Given the description of an element on the screen output the (x, y) to click on. 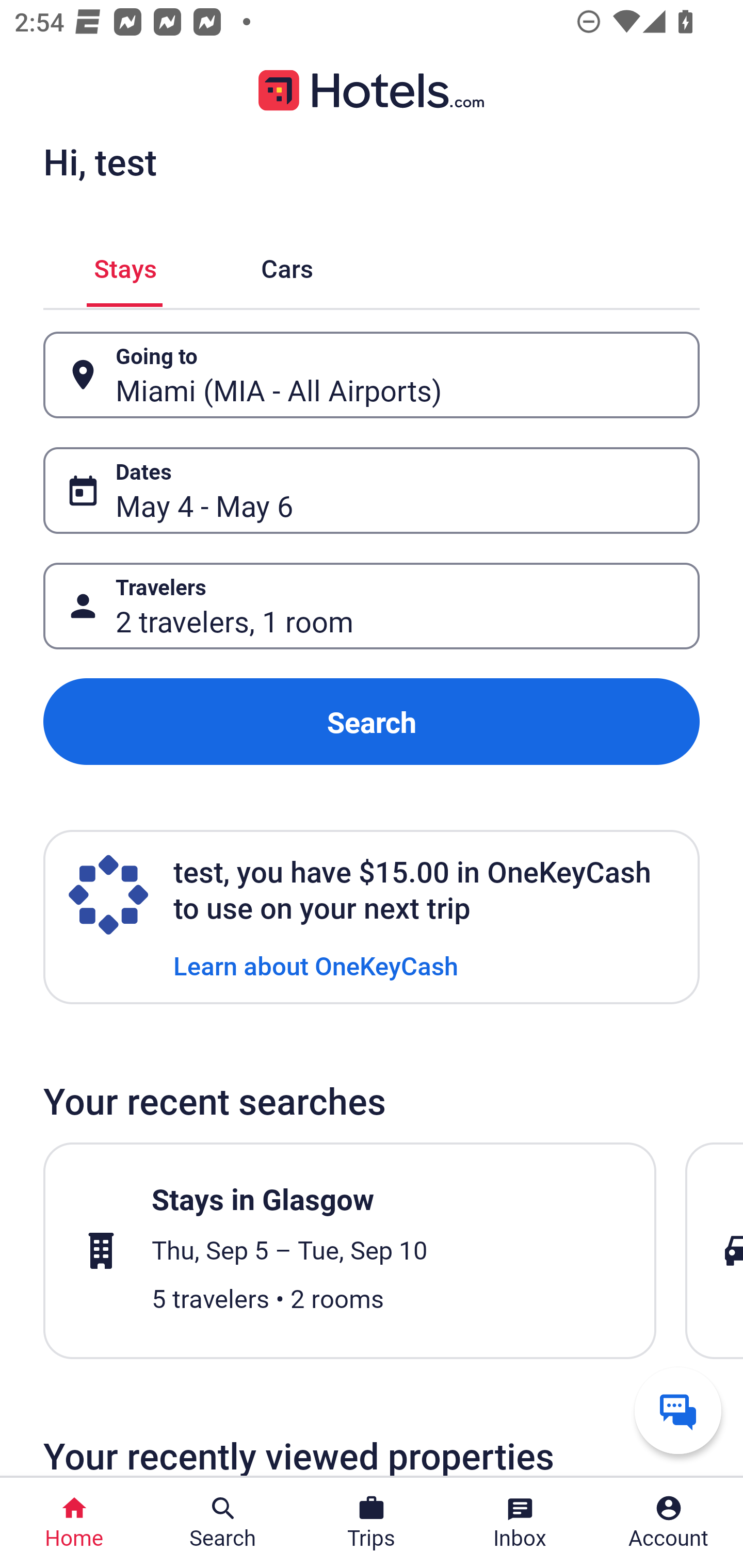
Hi, test (99, 161)
Cars (286, 265)
Going to Button Miami (MIA - All Airports) (371, 375)
Dates Button May 4 - May 6 (371, 489)
Travelers Button 2 travelers, 1 room (371, 605)
Search (371, 721)
Learn about OneKeyCash Learn about OneKeyCash Link (315, 964)
Get help from a virtual agent (677, 1410)
Search Search Button (222, 1522)
Trips Trips Button (371, 1522)
Inbox Inbox Button (519, 1522)
Account Profile. Button (668, 1522)
